Given the description of an element on the screen output the (x, y) to click on. 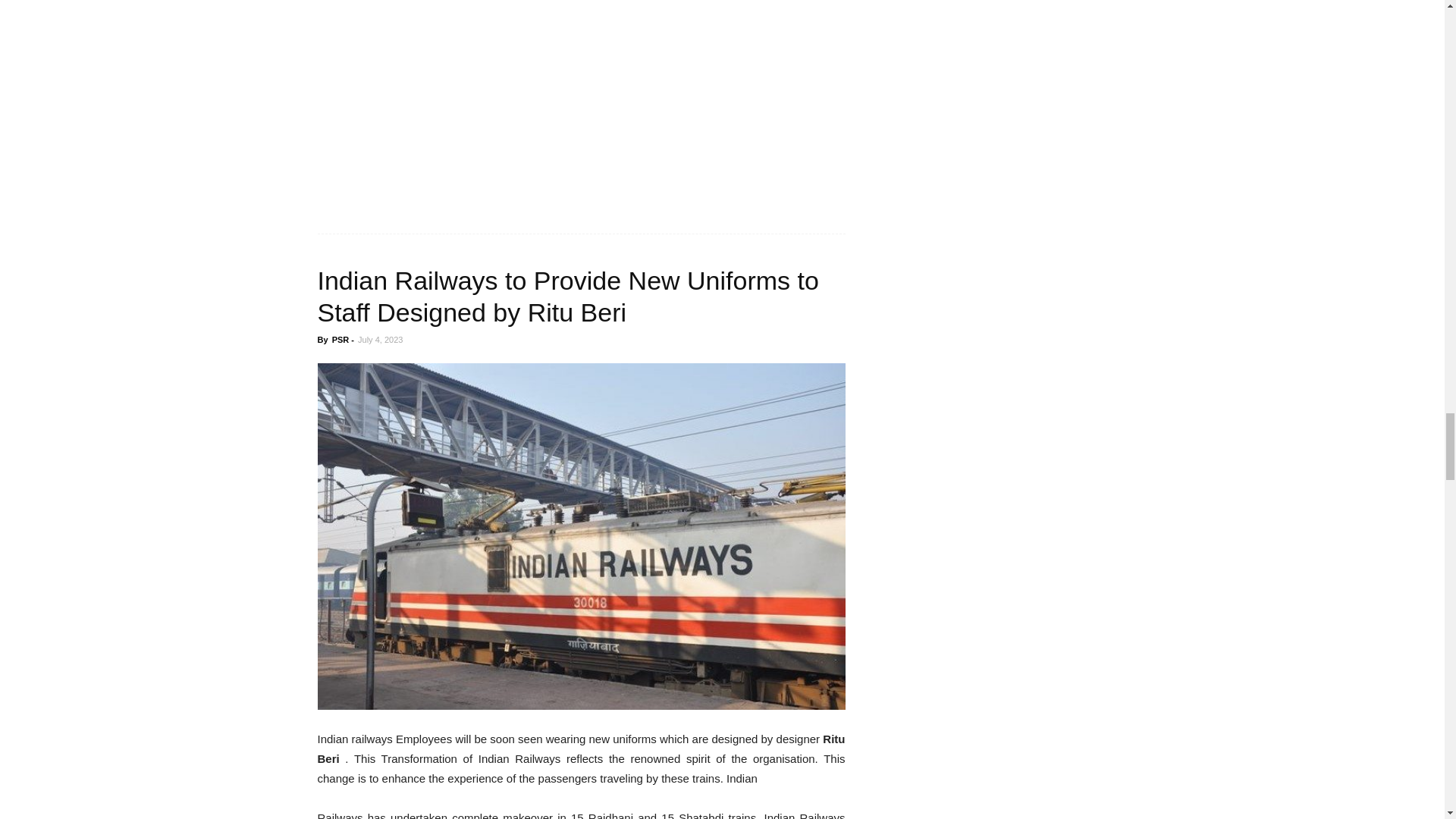
Whistle Feed Ads (430, 100)
